Given the description of an element on the screen output the (x, y) to click on. 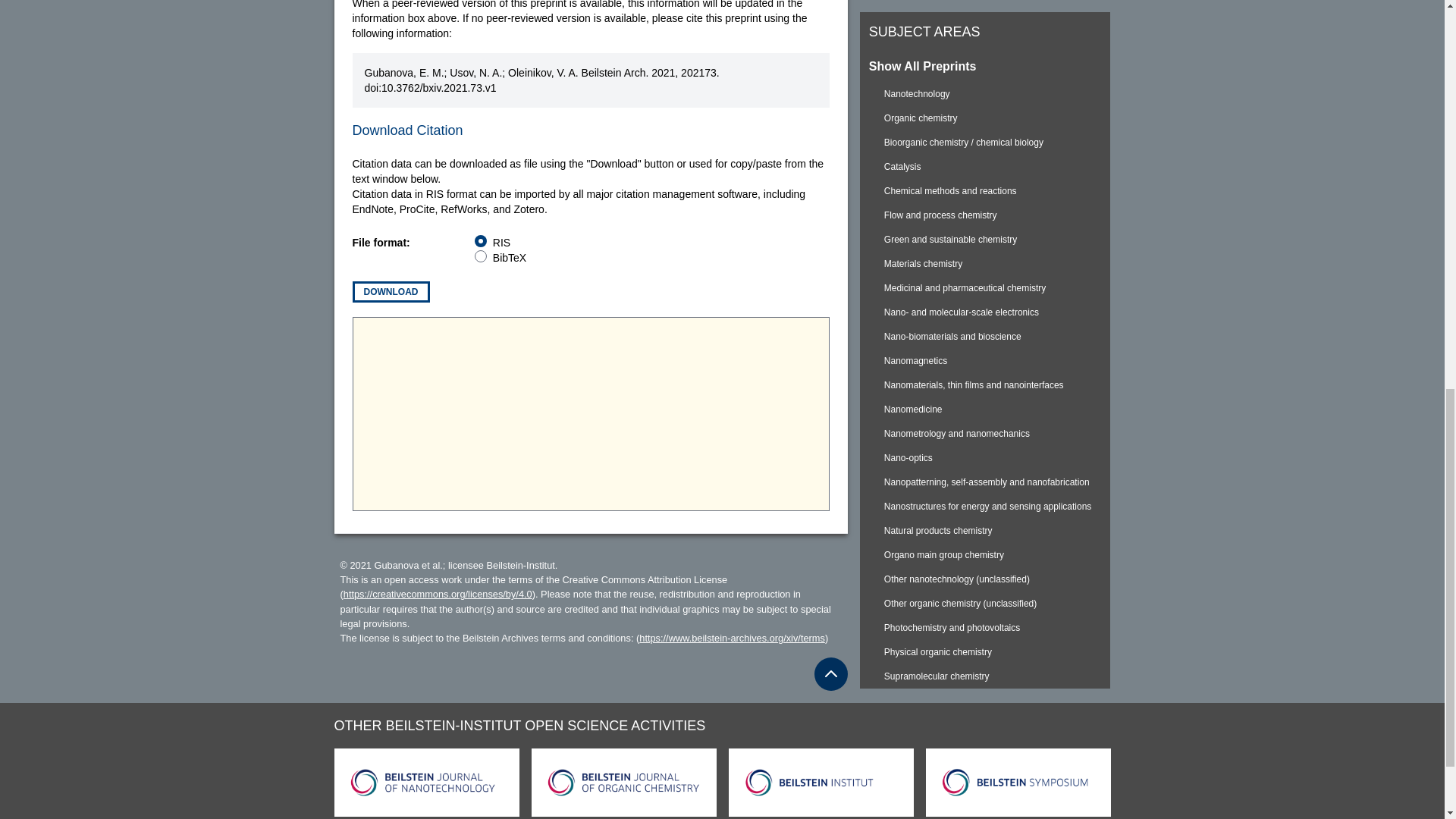
bib (480, 256)
ris (480, 241)
